Given the description of an element on the screen output the (x, y) to click on. 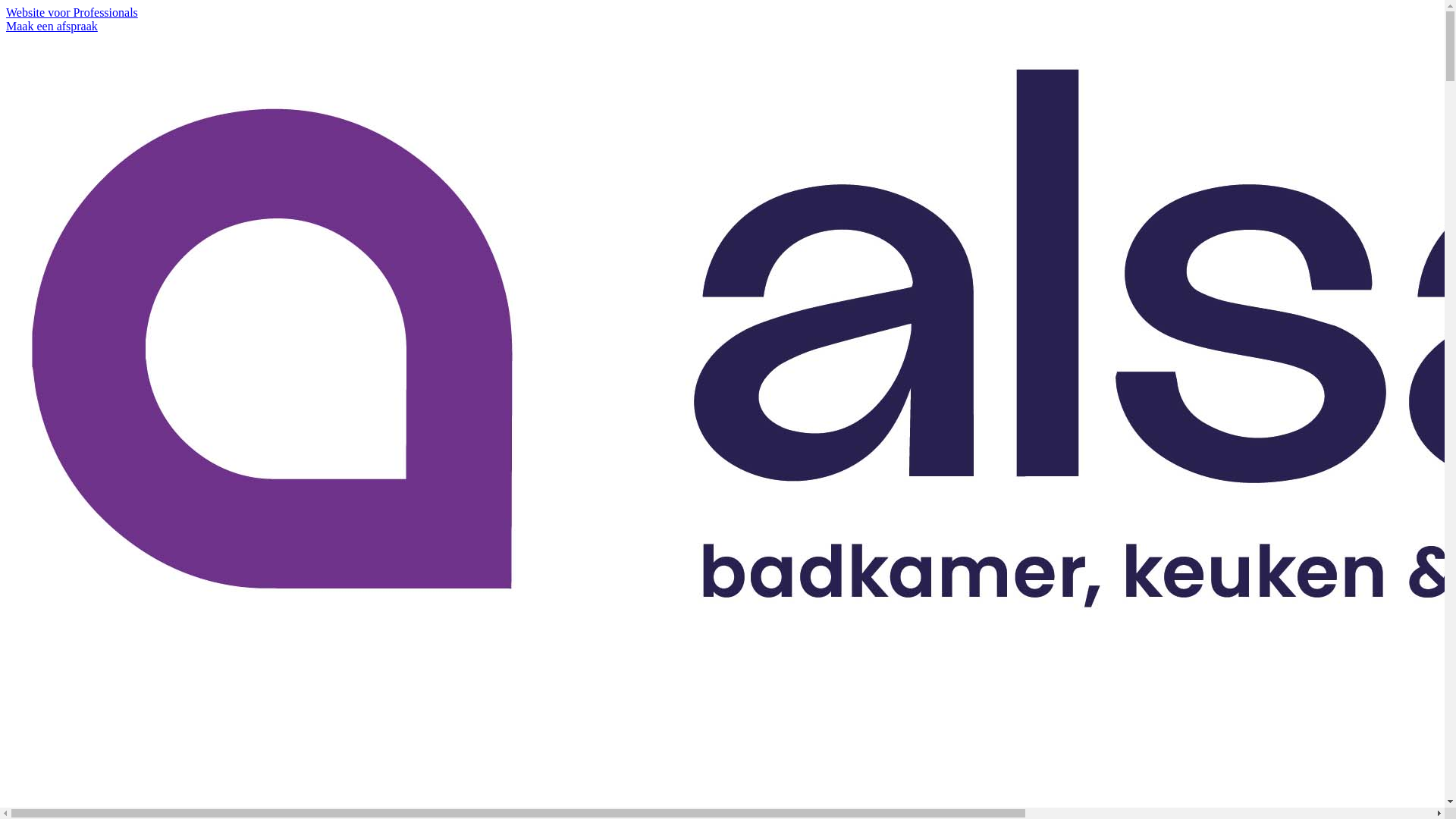
Website voor Professionals Element type: text (72, 12)
Maak een afspraak Element type: text (51, 25)
